Given the description of an element on the screen output the (x, y) to click on. 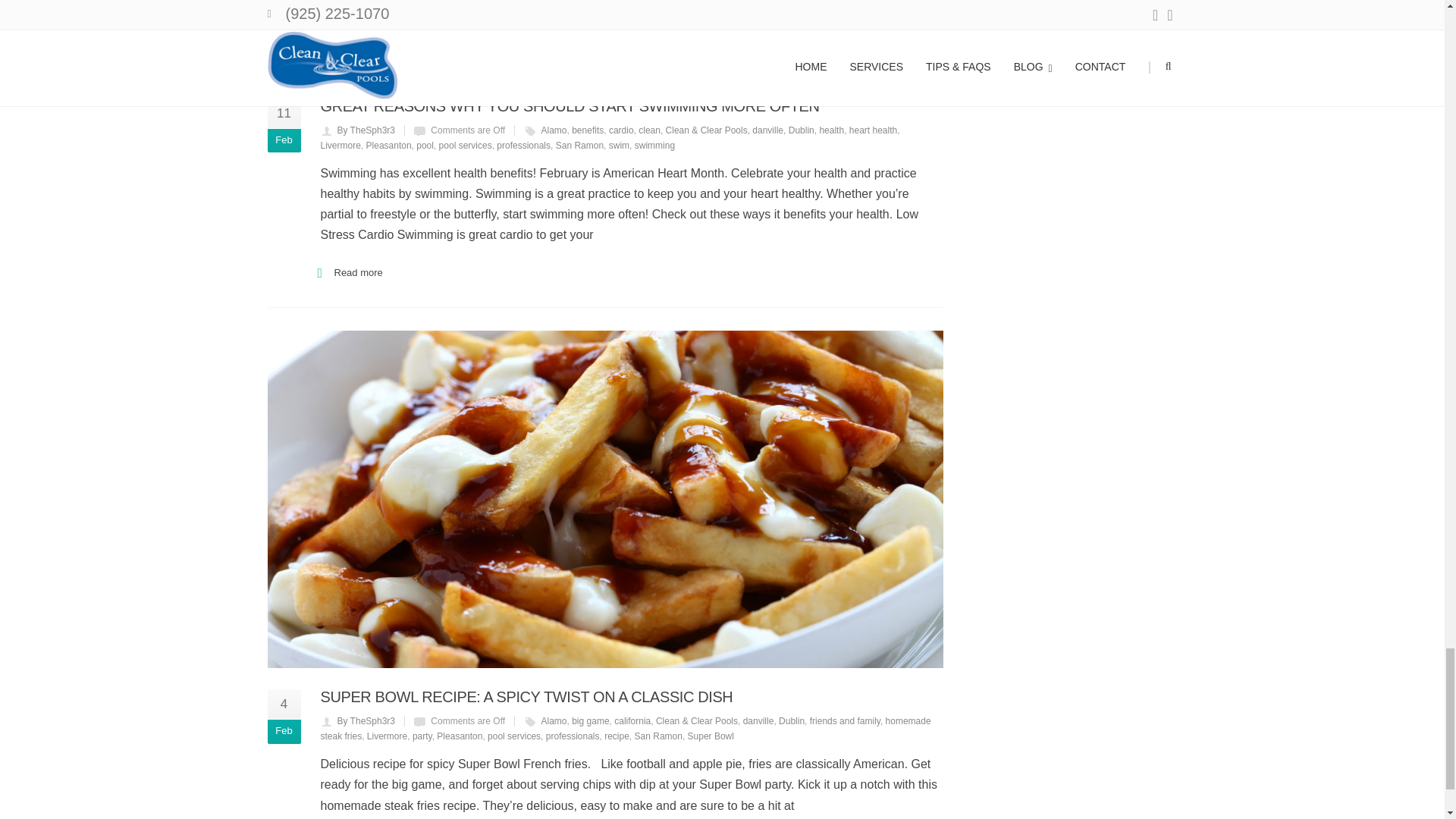
Great Reasons Why You Should Start Swimming More Often (604, 38)
